Given the description of an element on the screen output the (x, y) to click on. 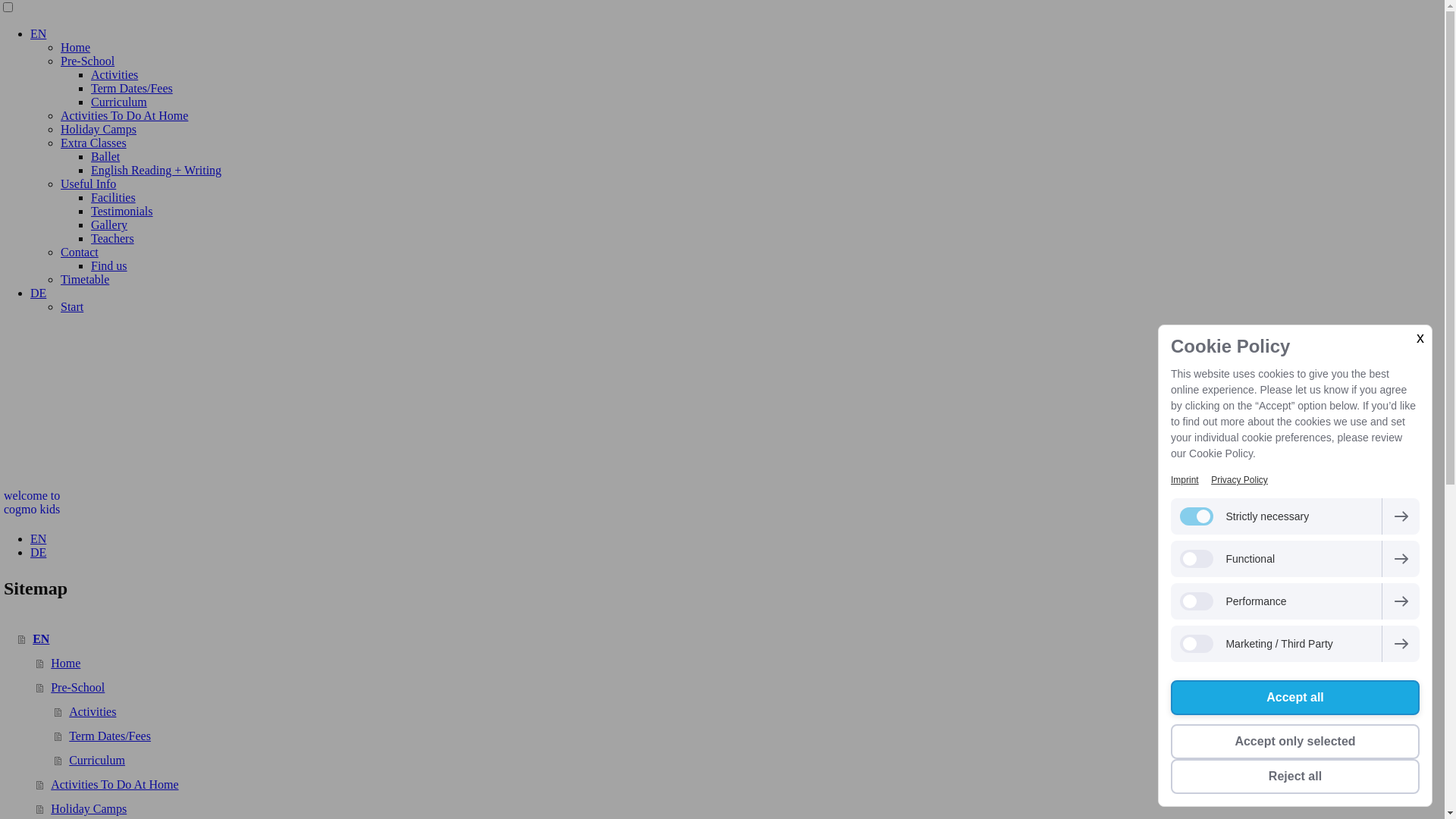
Extra Classes Element type: text (93, 142)
Accept only selected Element type: text (1294, 741)
Home Element type: text (740, 663)
Pre-School Element type: text (740, 687)
EN Element type: text (38, 538)
Home Element type: text (75, 46)
Activities To Do At Home Element type: text (124, 115)
Accept all Element type: text (1294, 697)
Imprint Element type: text (1184, 479)
Privacy Policy Element type: text (1239, 479)
Facilities Element type: text (113, 197)
Curriculum Element type: text (119, 101)
Find us Element type: text (109, 265)
Testimonials Element type: text (122, 210)
Gallery Element type: text (109, 224)
EN Element type: text (38, 33)
welcome to
cogmo kids Element type: text (721, 502)
Start Element type: text (71, 306)
Holiday Camps Element type: text (98, 128)
Activities To Do At Home Element type: text (740, 784)
English Reading + Writing Element type: text (156, 169)
EN Element type: text (731, 639)
Useful Info Element type: text (88, 183)
Curriculum Element type: text (749, 760)
Reject all Element type: text (1294, 776)
Activities Element type: text (114, 74)
DE Element type: text (38, 292)
Term Dates/Fees Element type: text (749, 736)
DE Element type: text (38, 552)
Pre-School Element type: text (87, 60)
Ballet Element type: text (105, 156)
Timetable Element type: text (84, 279)
Activities Element type: text (749, 711)
Contact Element type: text (79, 251)
Term Dates/Fees Element type: text (131, 87)
Teachers Element type: text (112, 238)
